Given the description of an element on the screen output the (x, y) to click on. 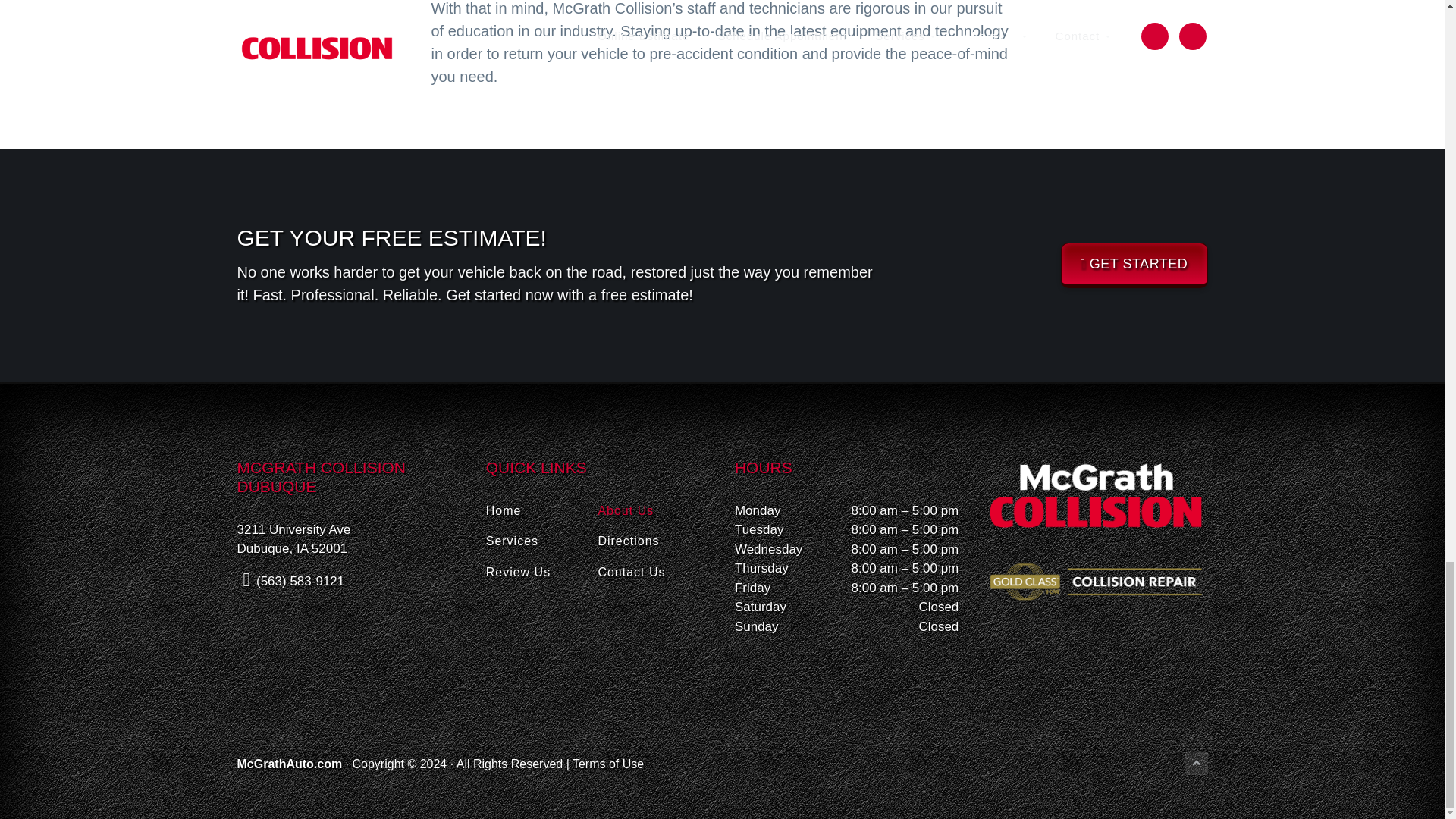
Review Us (542, 572)
GET STARTED (1134, 265)
Services (542, 541)
Contact Us (653, 572)
About Us (653, 510)
Directions (653, 541)
Home (542, 510)
